Given the description of an element on the screen output the (x, y) to click on. 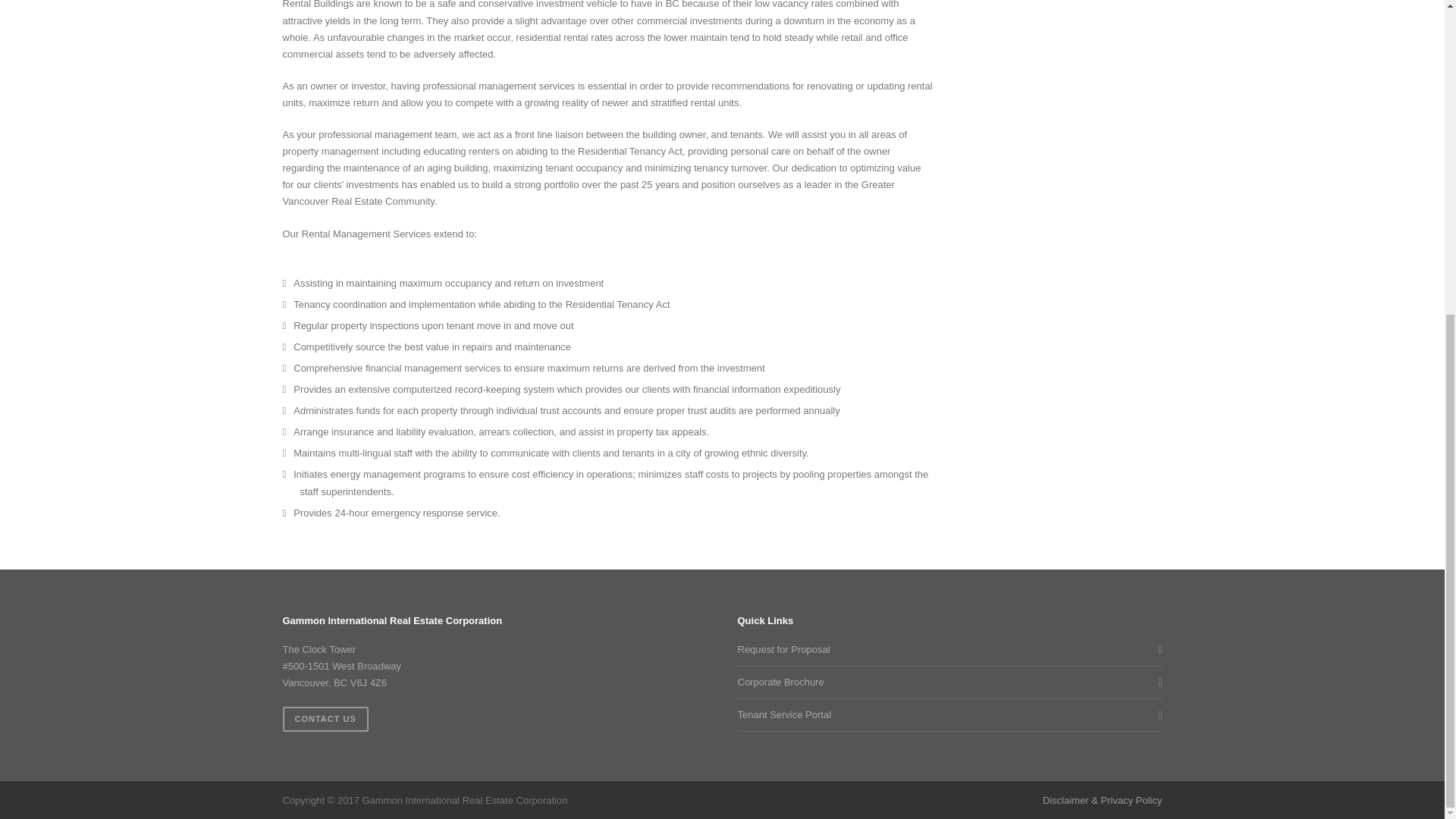
Request for Proposal (945, 649)
CONTACT US (325, 719)
Corporate Brochure (945, 682)
Tenant Service Portal (945, 714)
